Given the description of an element on the screen output the (x, y) to click on. 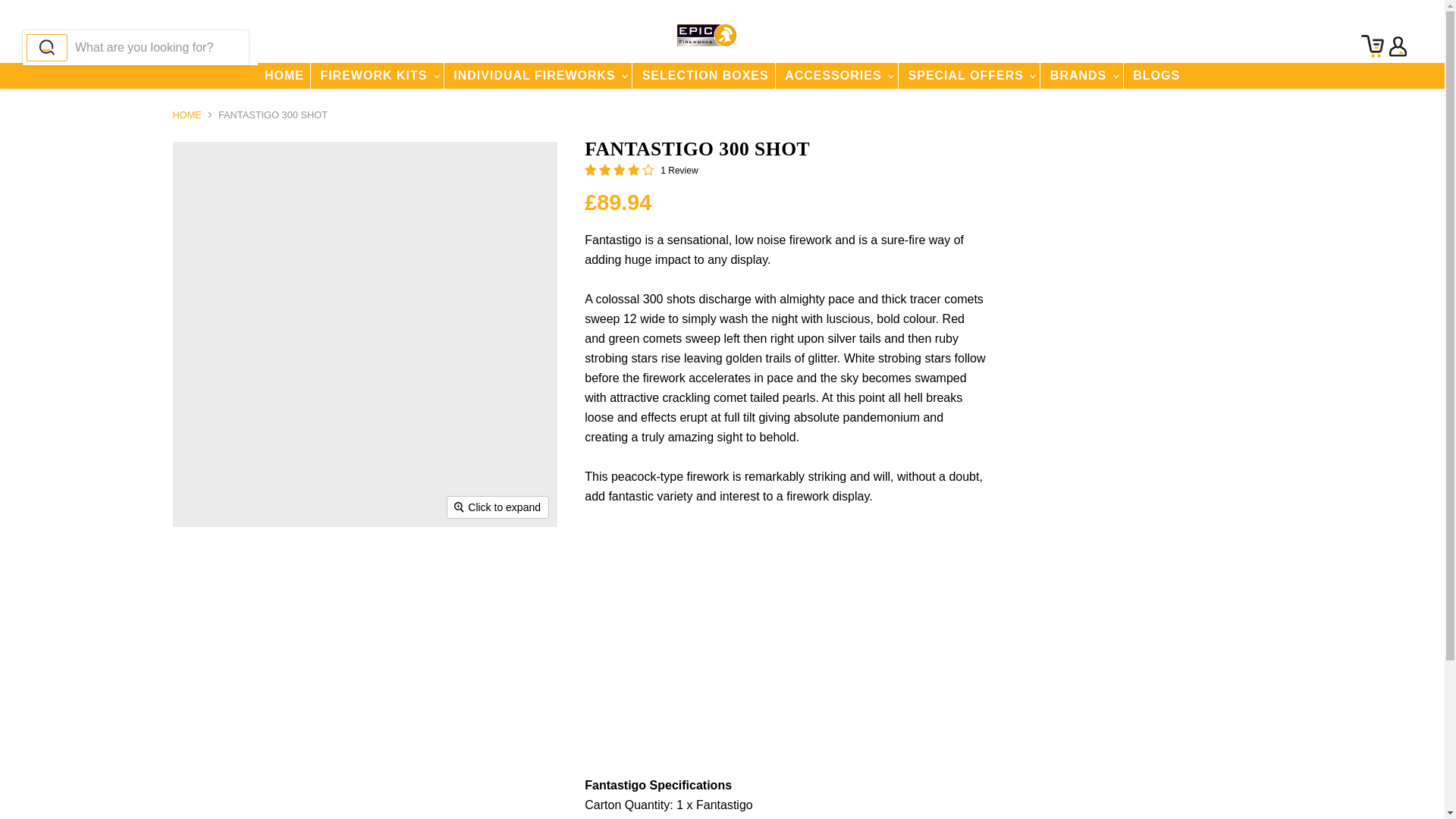
HOME (283, 75)
View cart (1370, 46)
SELECTION BOXES (705, 75)
